Given the description of an element on the screen output the (x, y) to click on. 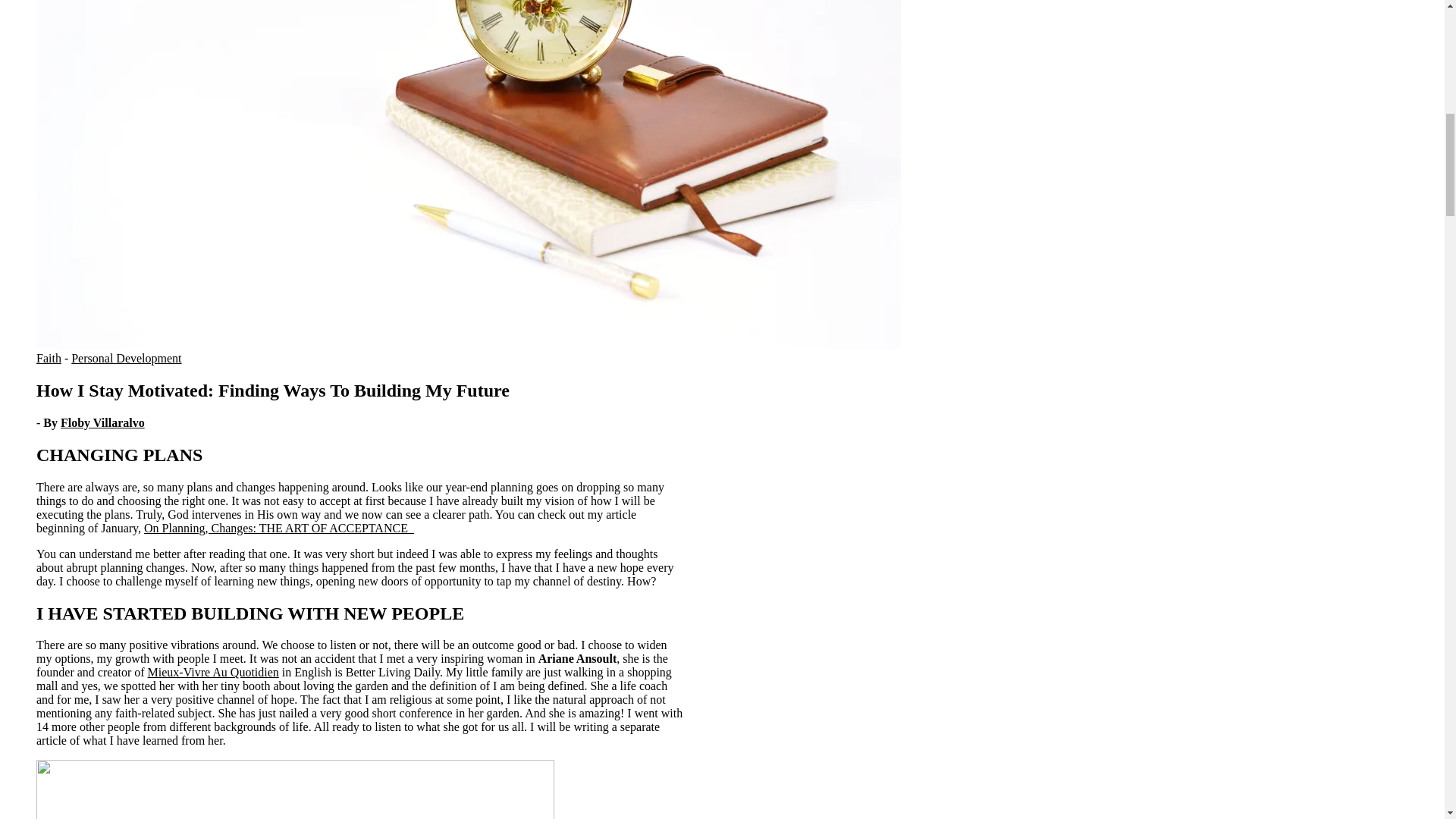
Floby Villaralvo (102, 422)
On Planning, Changes: THE ART OF ACCEPTANCE   (278, 527)
Mieux-Vivre Au Quotidien (213, 671)
Faith (48, 358)
Posts by Floby Villaralvo (102, 422)
Personal Development (125, 358)
